Given the description of an element on the screen output the (x, y) to click on. 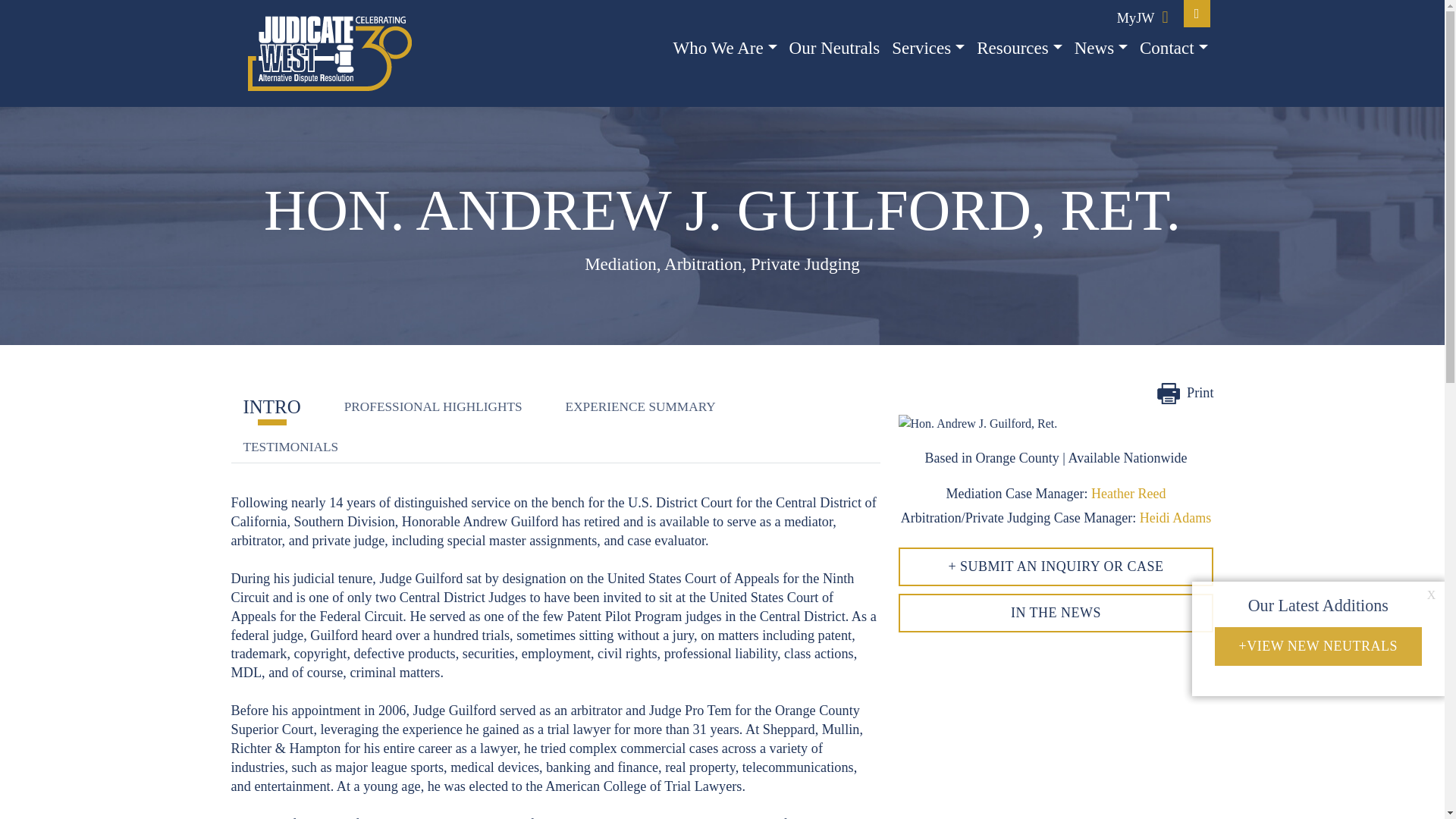
News (1101, 48)
EXPERIENCE SUMMARY (640, 406)
Who We Are (724, 48)
Resources (1019, 48)
INTRO (271, 406)
Our Neutrals (834, 48)
Contact (1174, 48)
TESTIMONIALS (290, 446)
Services (928, 48)
PROFESSIONAL HIGHLIGHTS (432, 406)
